Given the description of an element on the screen output the (x, y) to click on. 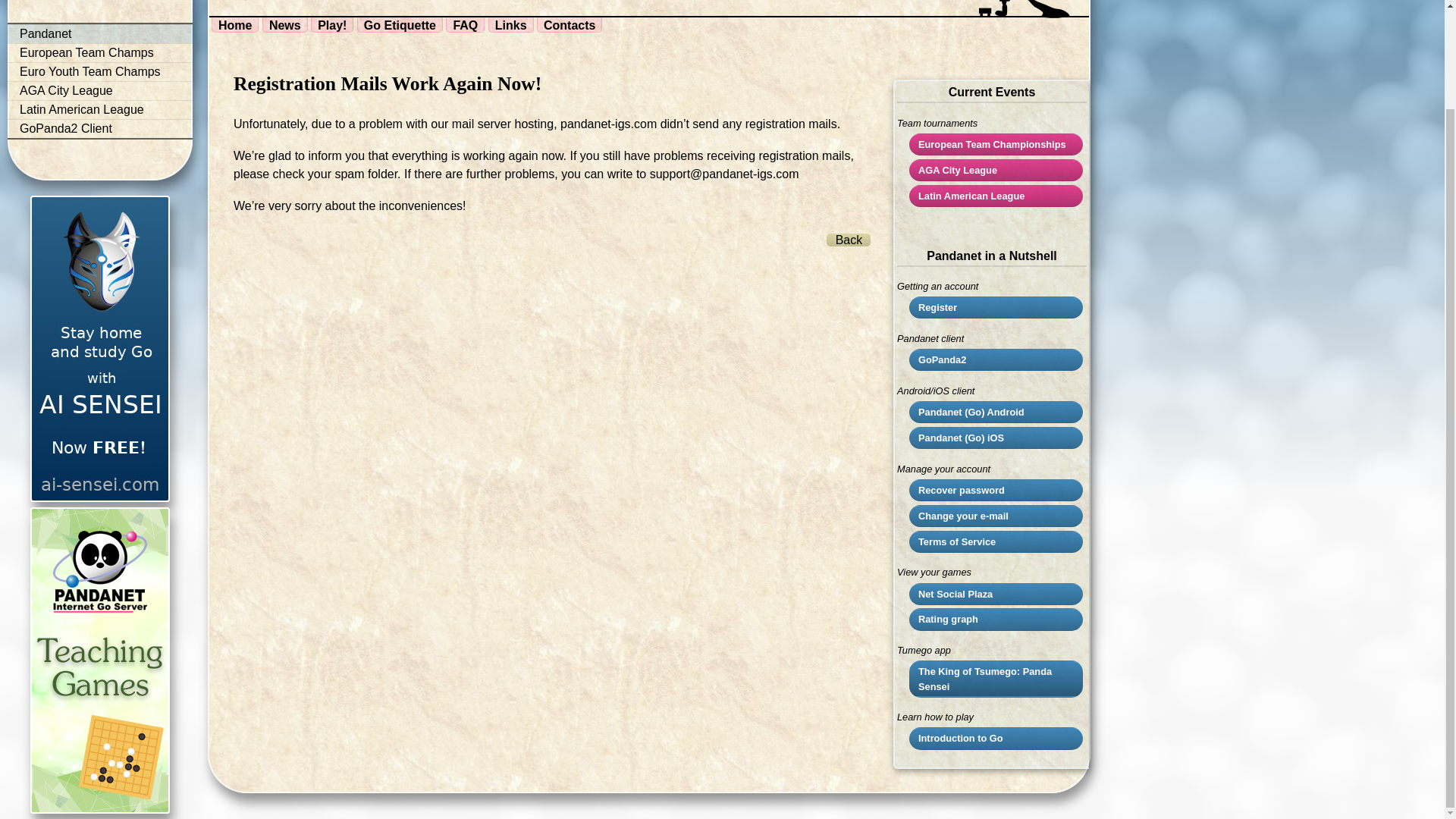
Change your e-mail (997, 515)
European Team Championships (997, 144)
Contacts (569, 24)
GoPanda2 Client (99, 128)
Euro Youth Team Champs (99, 72)
FAQ (464, 24)
Recover password (997, 490)
News (284, 24)
Introduction to Go (997, 738)
Terms of Service (997, 541)
Back (848, 239)
Play! (332, 24)
European Team Champs (99, 53)
AGA City League (99, 90)
Pandanet (99, 34)
